Given the description of an element on the screen output the (x, y) to click on. 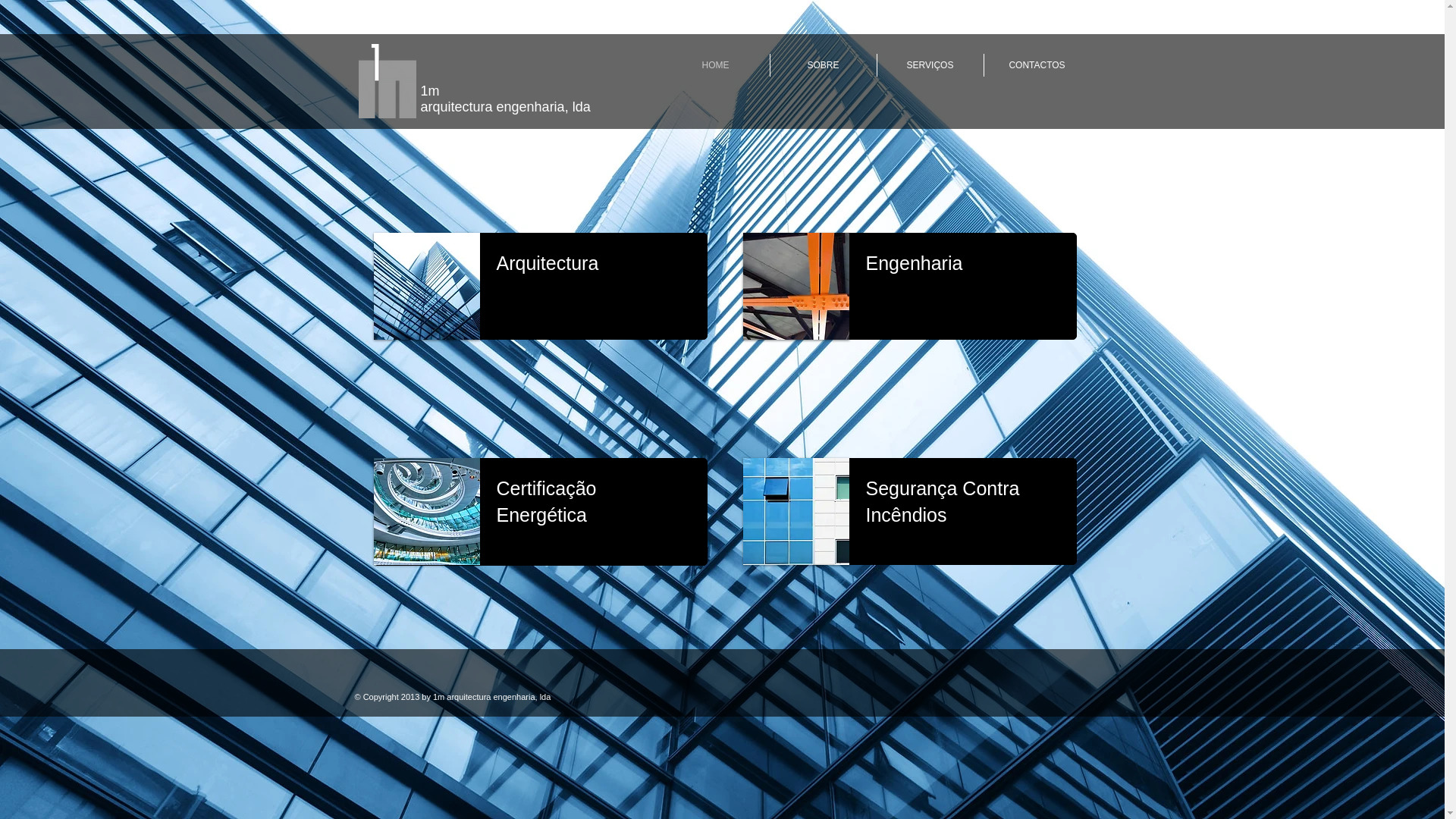
HOME Element type: text (714, 64)
SOBRE Element type: text (823, 64)
CONTACTOS Element type: text (1037, 64)
Arquitectura Element type: text (546, 262)
Engenharia Element type: text (914, 262)
